Given the description of an element on the screen output the (x, y) to click on. 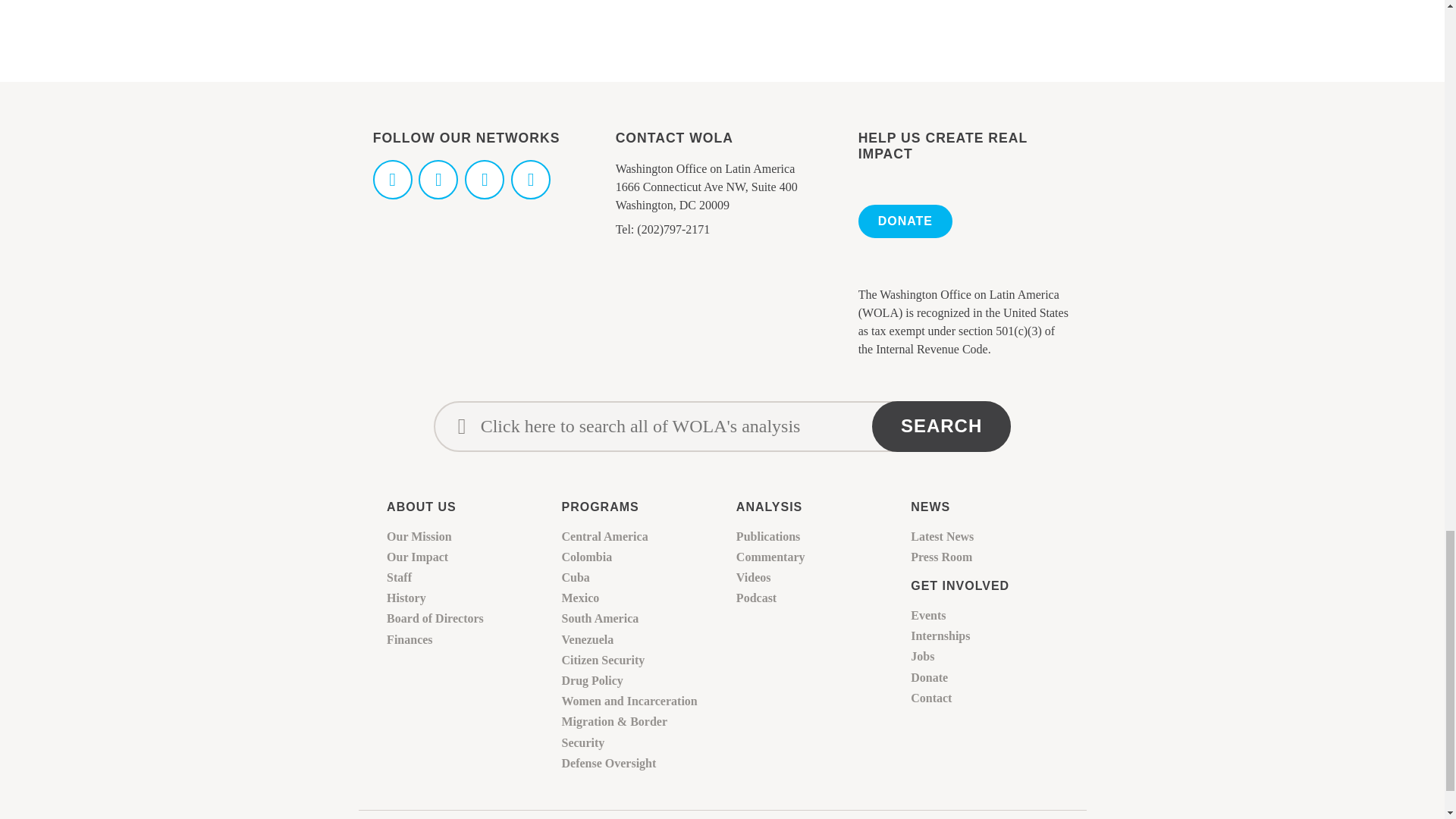
Search (941, 426)
Search (941, 426)
